Given the description of an element on the screen output the (x, y) to click on. 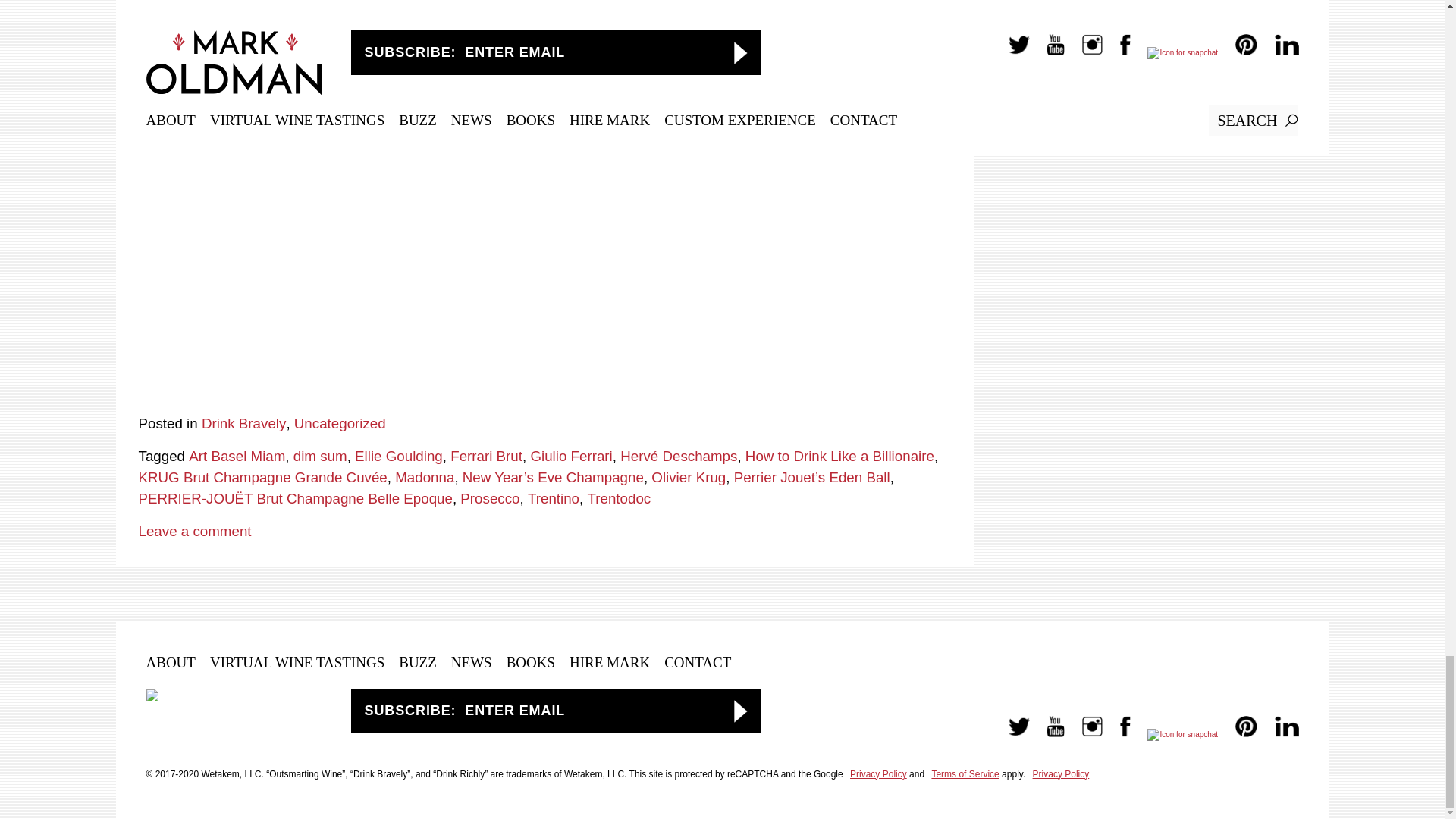
SnapChat (1174, 734)
Instagram (1085, 734)
How to Drink Like a Billionaire (839, 455)
dim sum (320, 455)
YouTube (1048, 734)
Facebook (1118, 734)
LinkedIn (1278, 734)
Madonna (424, 477)
Ferrari Brut (485, 455)
Pinterest (1238, 734)
